Given the description of an element on the screen output the (x, y) to click on. 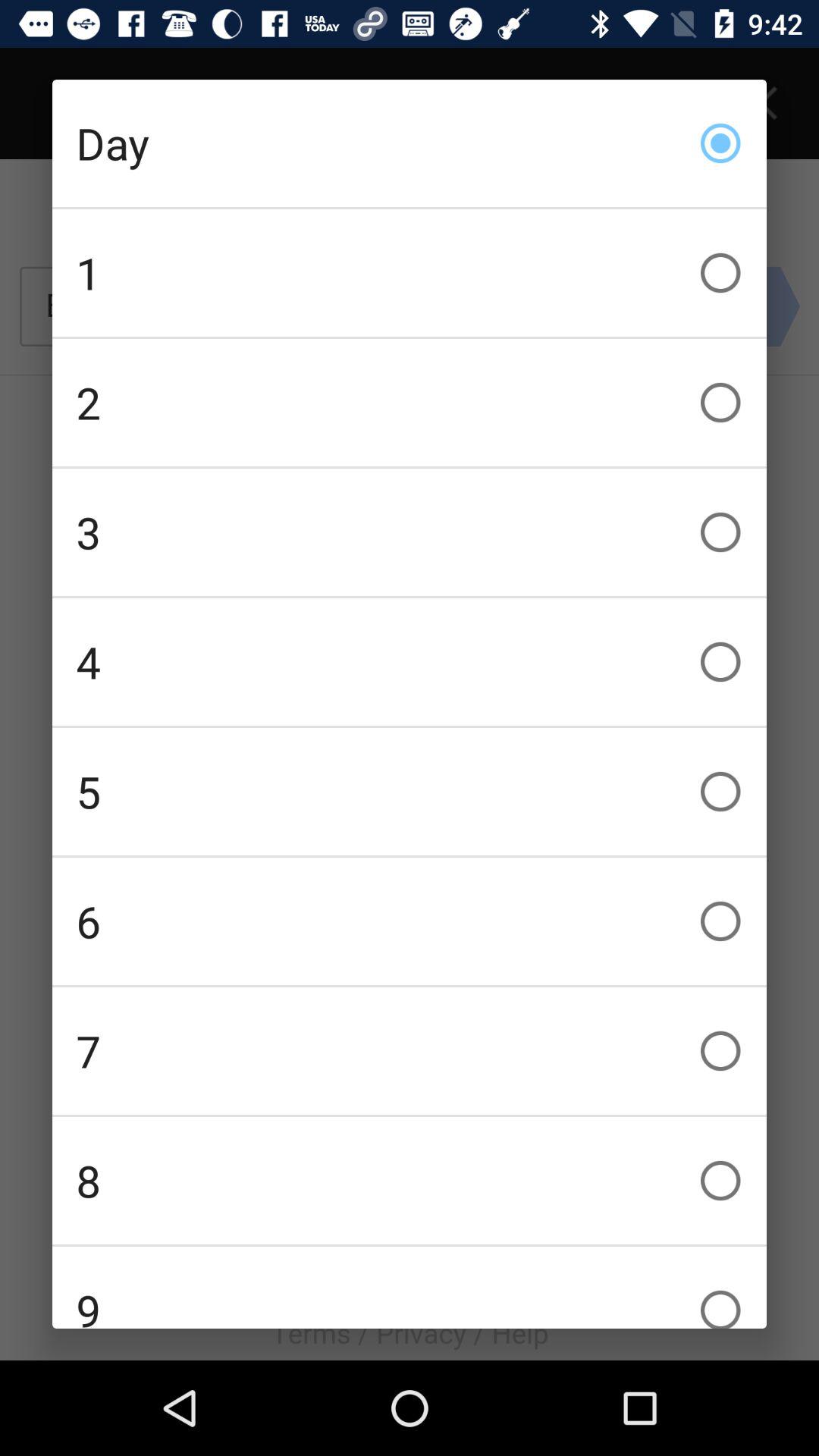
open the 5 checkbox (409, 791)
